Given the description of an element on the screen output the (x, y) to click on. 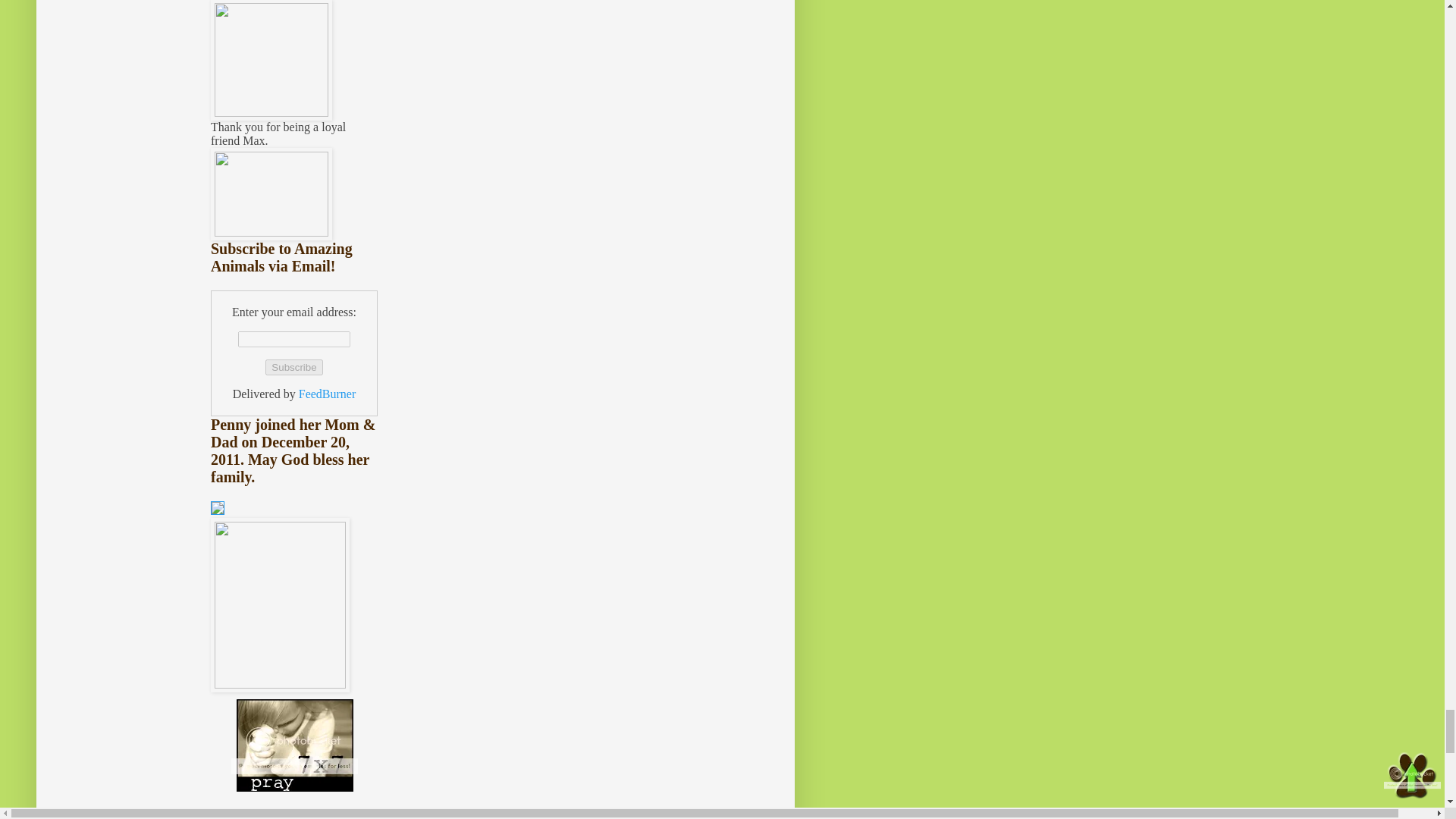
Subscribe (292, 367)
